Given the description of an element on the screen output the (x, y) to click on. 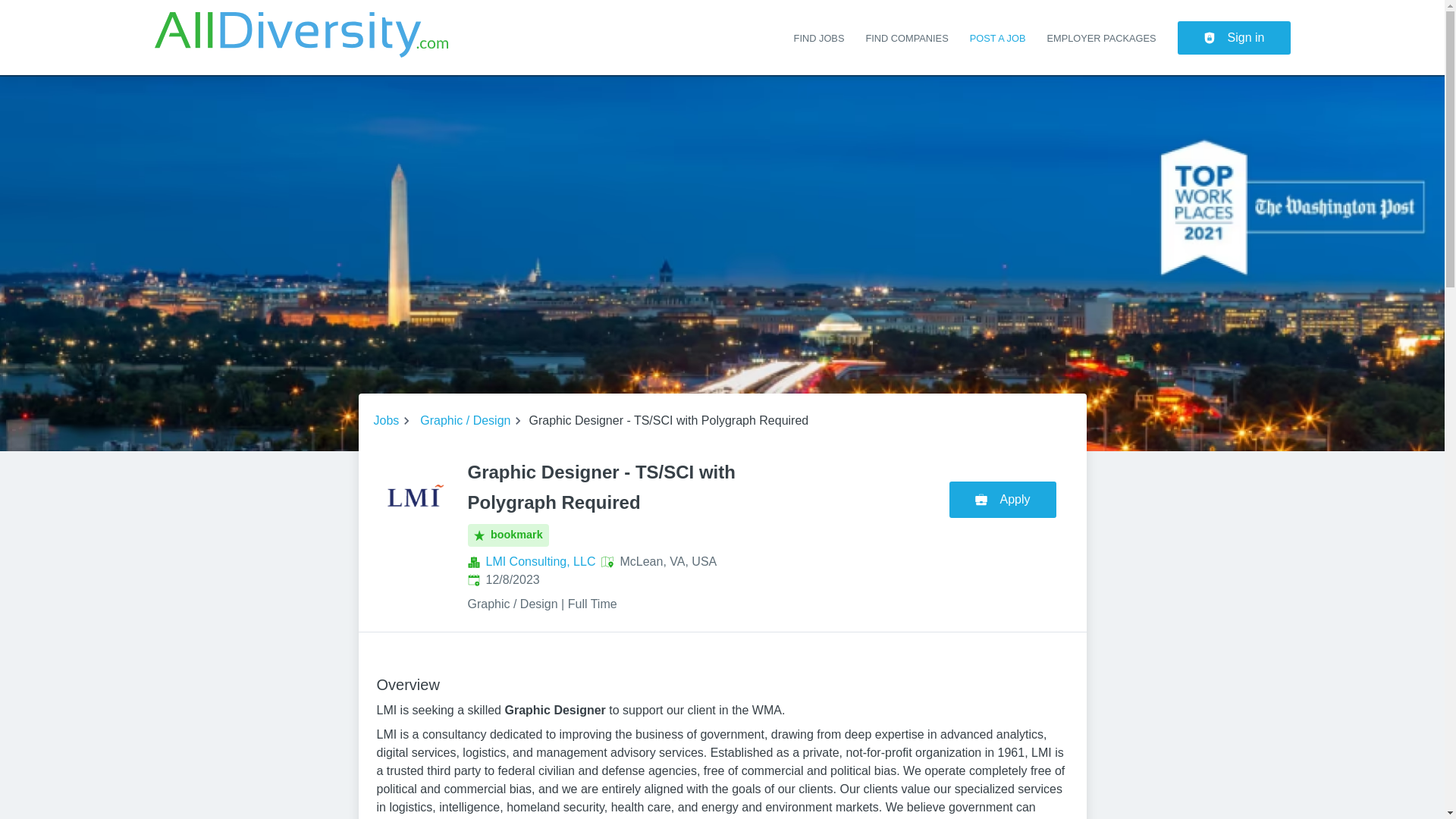
FIND COMPANIES (905, 37)
Apply (1002, 499)
EMPLOYER PACKAGES (1101, 37)
bookmark (507, 535)
Apply (1002, 499)
Jobs (385, 420)
POST A JOB (997, 37)
LMI Consulting, LLC (539, 561)
Sign in (1233, 37)
FIND JOBS (818, 37)
bookmark (507, 535)
Apply (1005, 496)
